Given the description of an element on the screen output the (x, y) to click on. 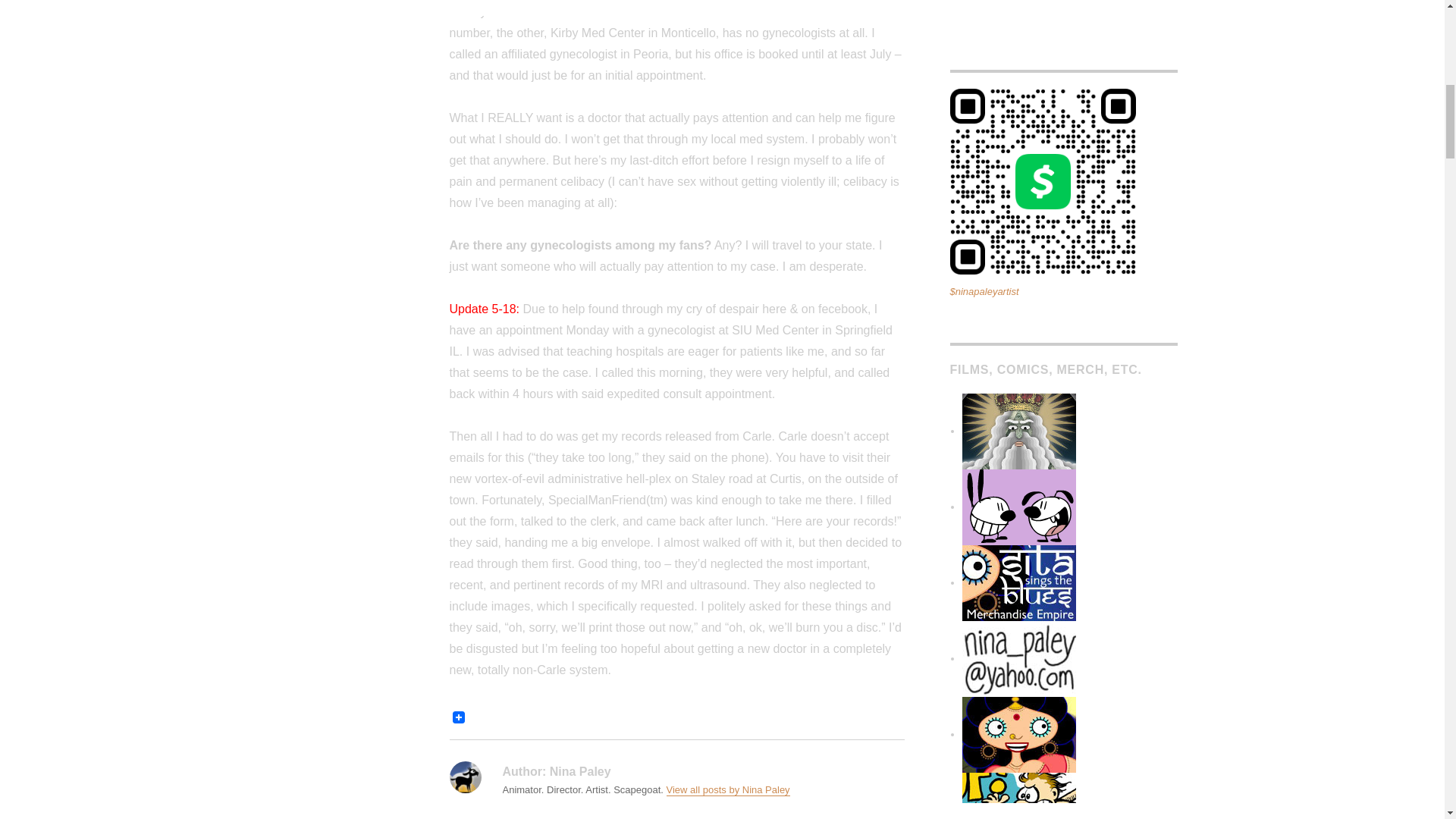
View all posts by Nina Paley (728, 789)
